Given the description of an element on the screen output the (x, y) to click on. 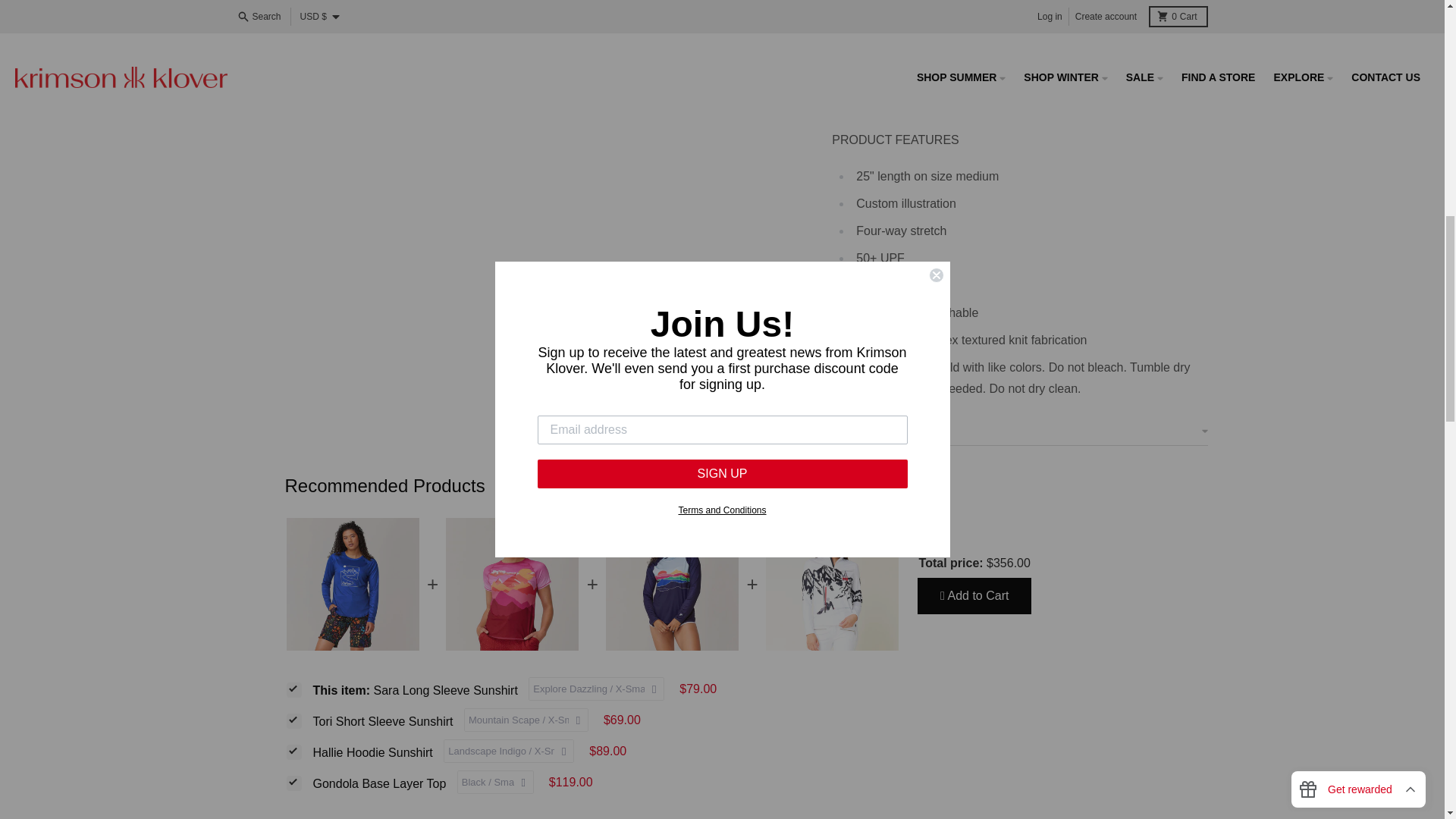
Hallie Hoodie Sunshirt (378, 751)
Gondola Base Layer Top (385, 782)
Sara Long Sleeve Sunshirt (420, 689)
Tori Short Sleeve Sunshirt (388, 720)
